Given the description of an element on the screen output the (x, y) to click on. 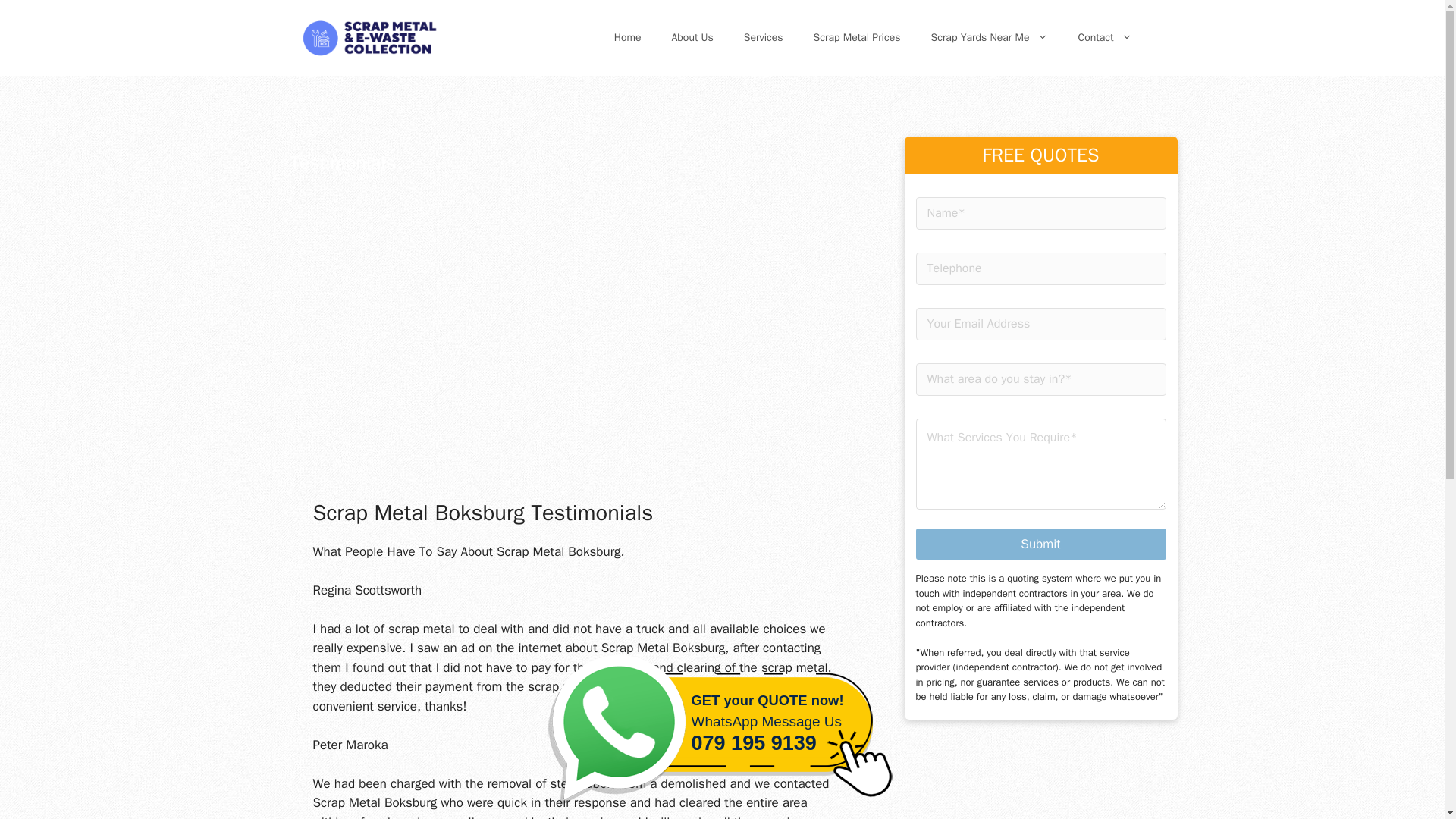
Home (627, 37)
Services (763, 37)
Scrap Yards Near Me (988, 37)
Submit (1040, 543)
Scrap Metal Prices (721, 732)
Contact (856, 37)
About Us (1104, 37)
